Given the description of an element on the screen output the (x, y) to click on. 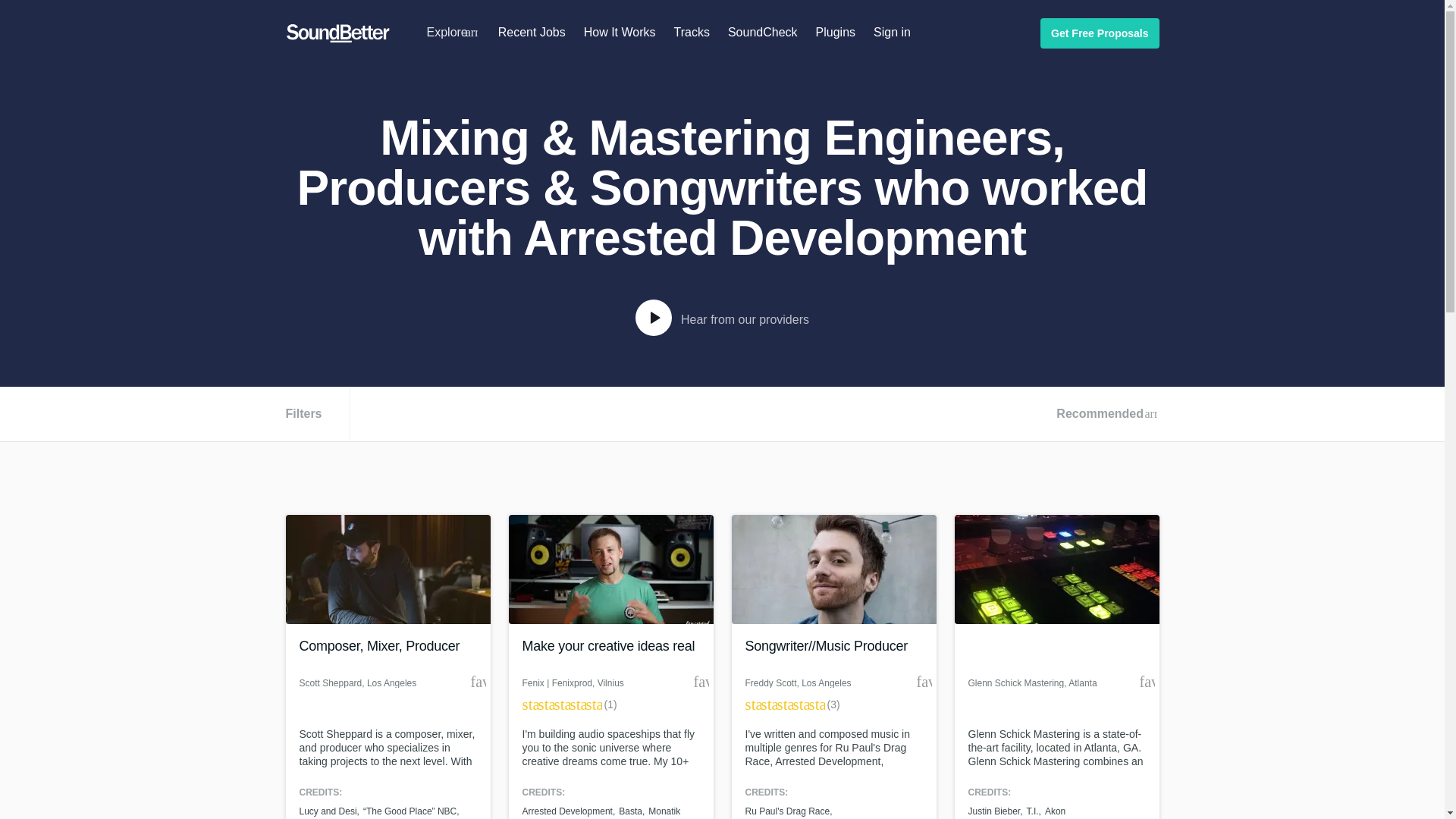
SoundBetter (337, 33)
